Given the description of an element on the screen output the (x, y) to click on. 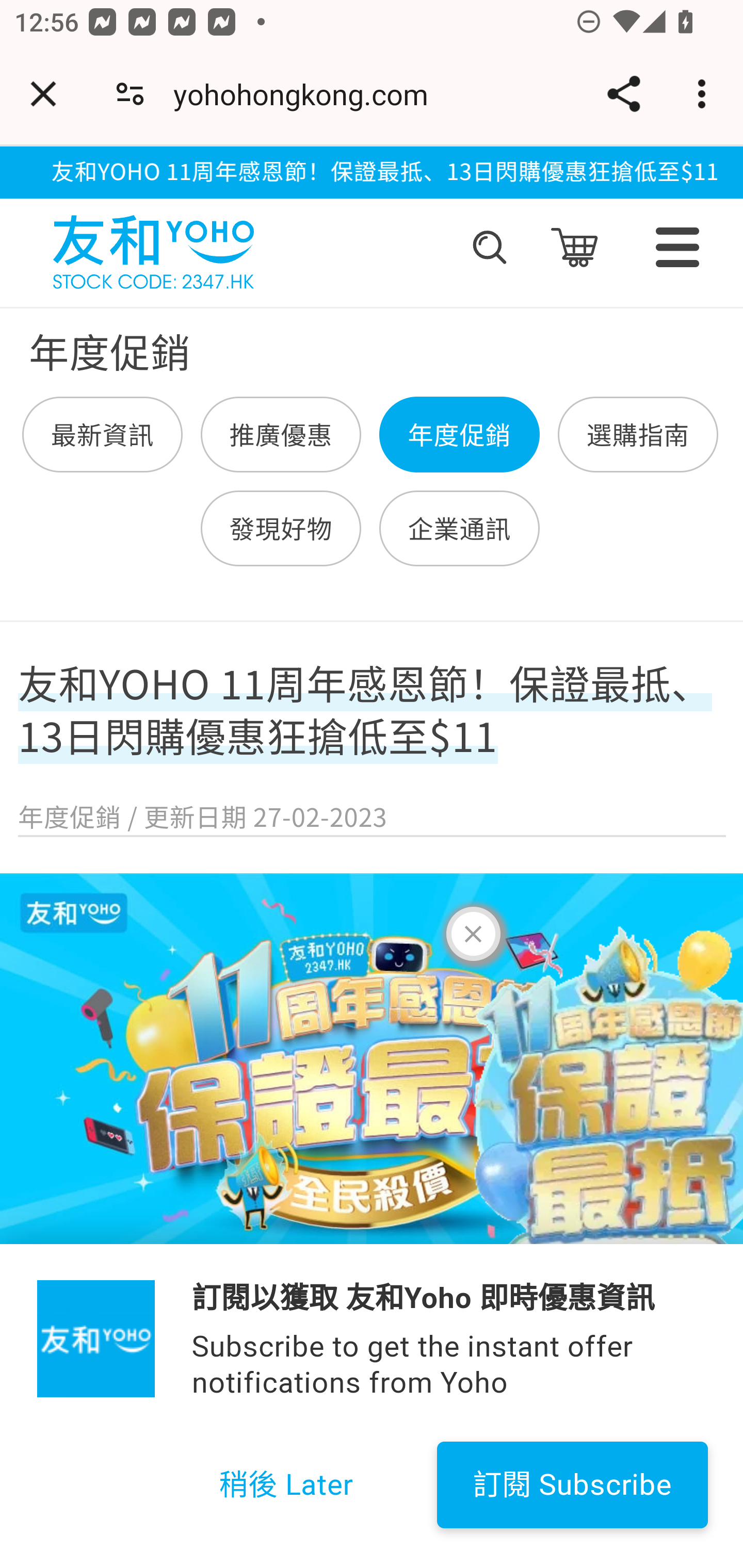
Close tab (43, 93)
Share (623, 93)
Customize and control Google Chrome (705, 93)
Connection is secure (129, 93)
yohohongkong.com (307, 93)
cart (574, 247)
友和 YOHO (153, 247)
最新資訊 (102, 435)
最新資訊 (102, 435)
推廣優惠 (280, 435)
推廣優惠 (280, 435)
年度促銷 (458, 435)
年度促銷 (458, 435)
選購指南 (637, 435)
選購指南 (637, 435)
發現好物 (280, 528)
發現好物 (280, 528)
企業通訊 (458, 528)
企業通訊 (458, 528)
